Given the description of an element on the screen output the (x, y) to click on. 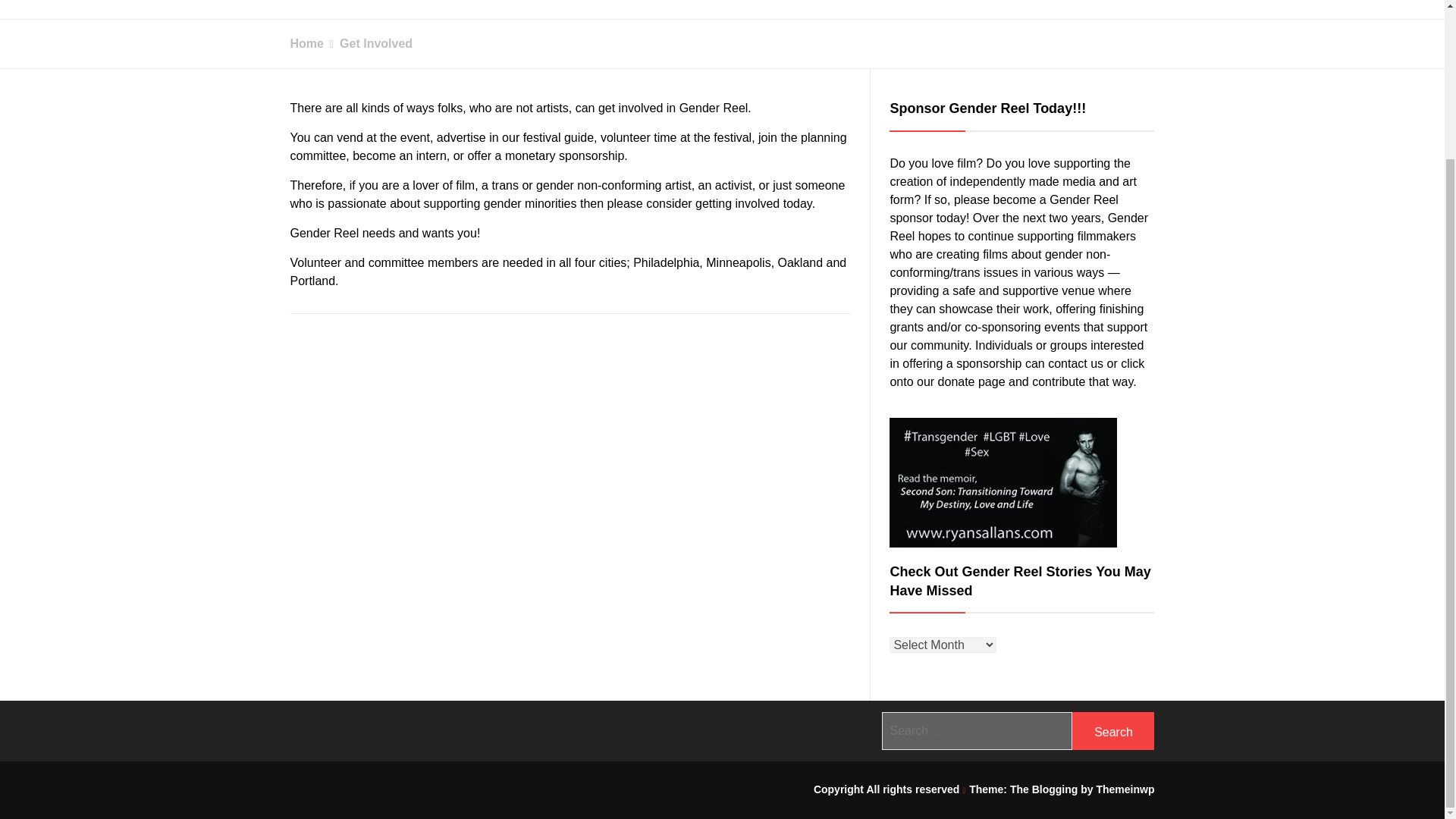
Home (306, 42)
Search (1112, 730)
Search (1112, 730)
Get Involved (367, 42)
